Given the description of an element on the screen output the (x, y) to click on. 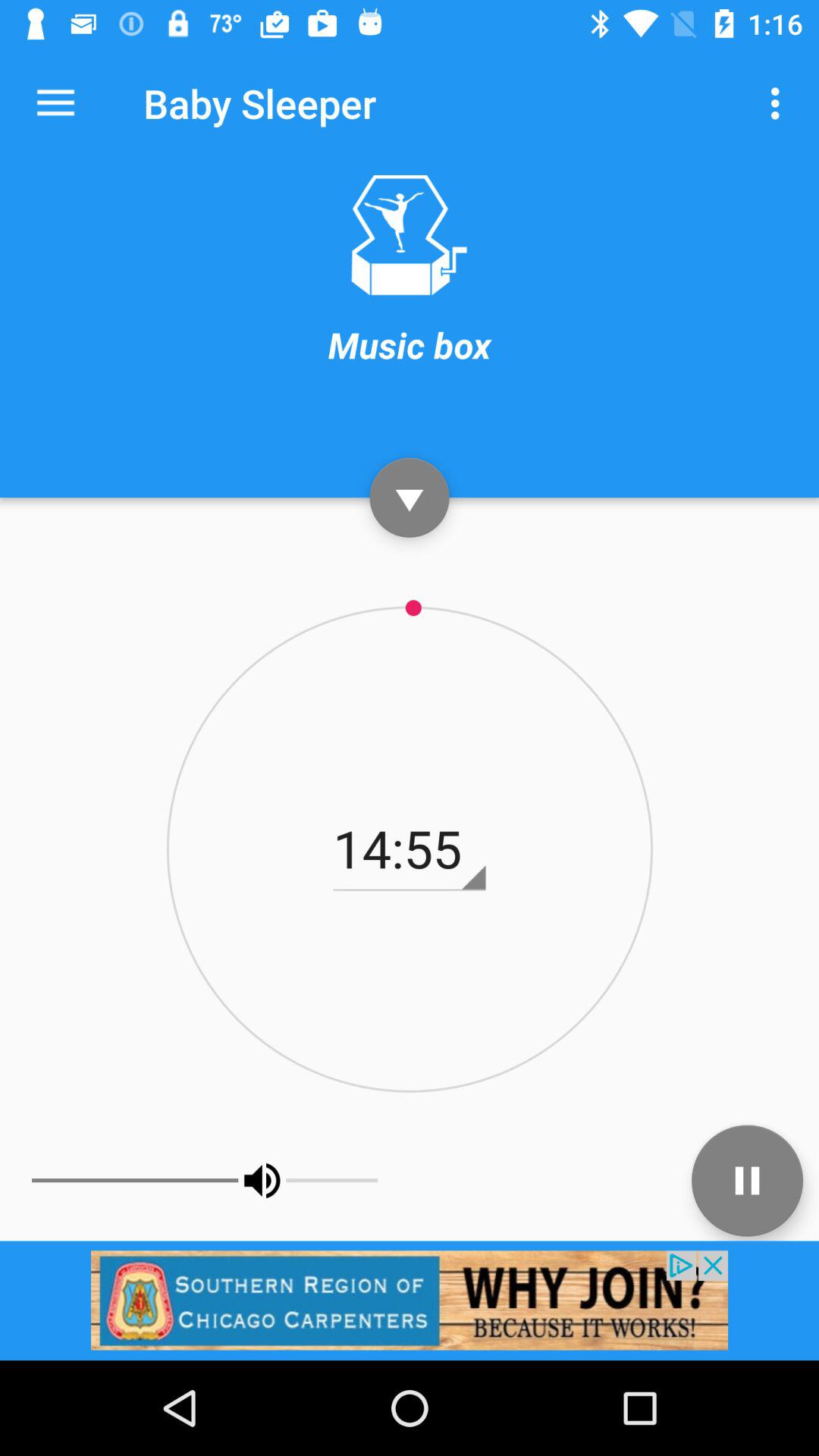
choose a different type of music (409, 235)
